Given the description of an element on the screen output the (x, y) to click on. 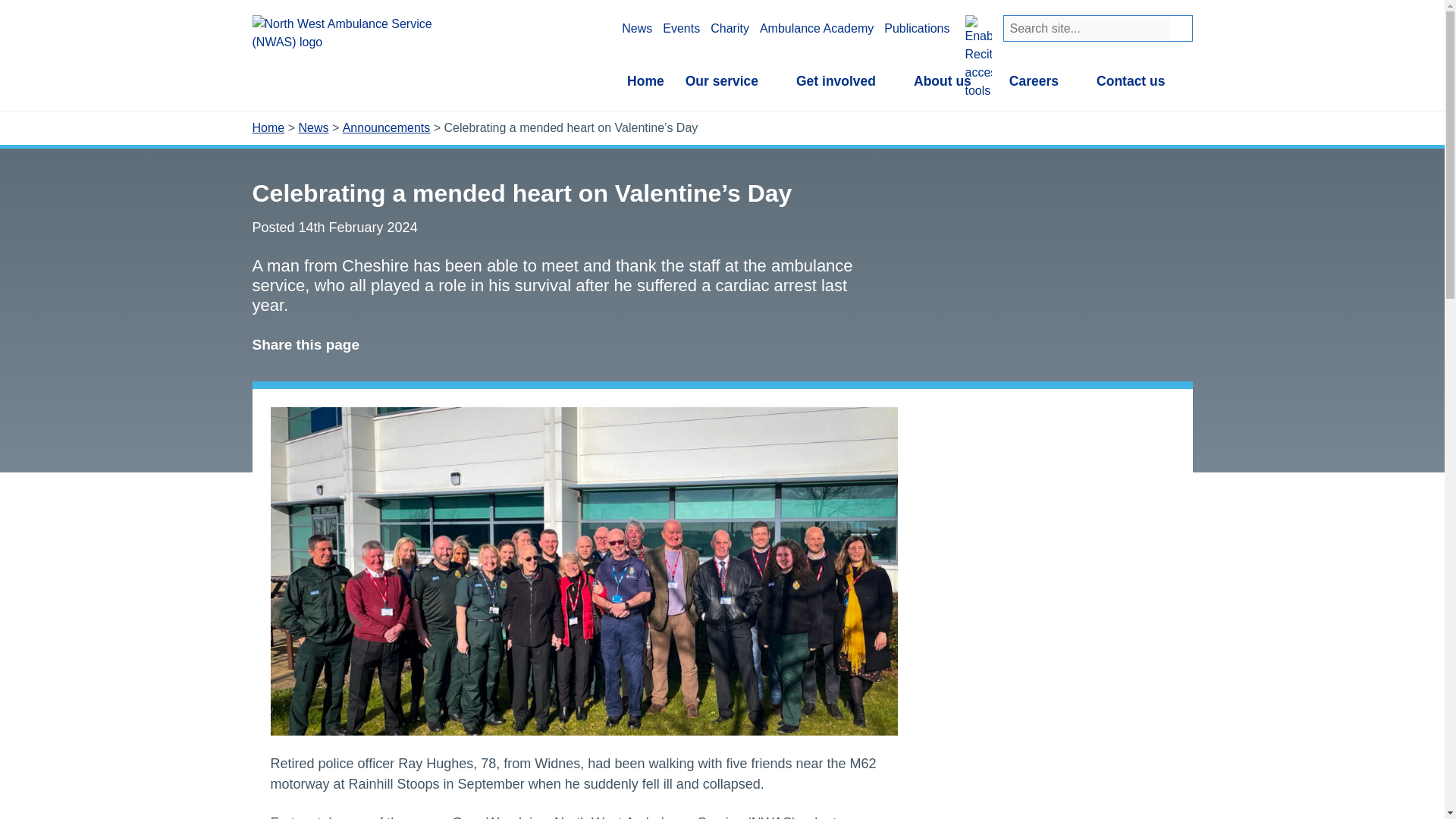
Go to News. (313, 127)
Ambulance Academy (816, 28)
Publications (916, 28)
Home (645, 80)
Charity (729, 28)
Events (681, 28)
Get involved (844, 80)
Visit the homepage (357, 33)
Our service (730, 80)
About us (950, 80)
News (636, 28)
Go to the Announcements category archives. (386, 127)
Go to Home. (267, 127)
